Given the description of an element on the screen output the (x, y) to click on. 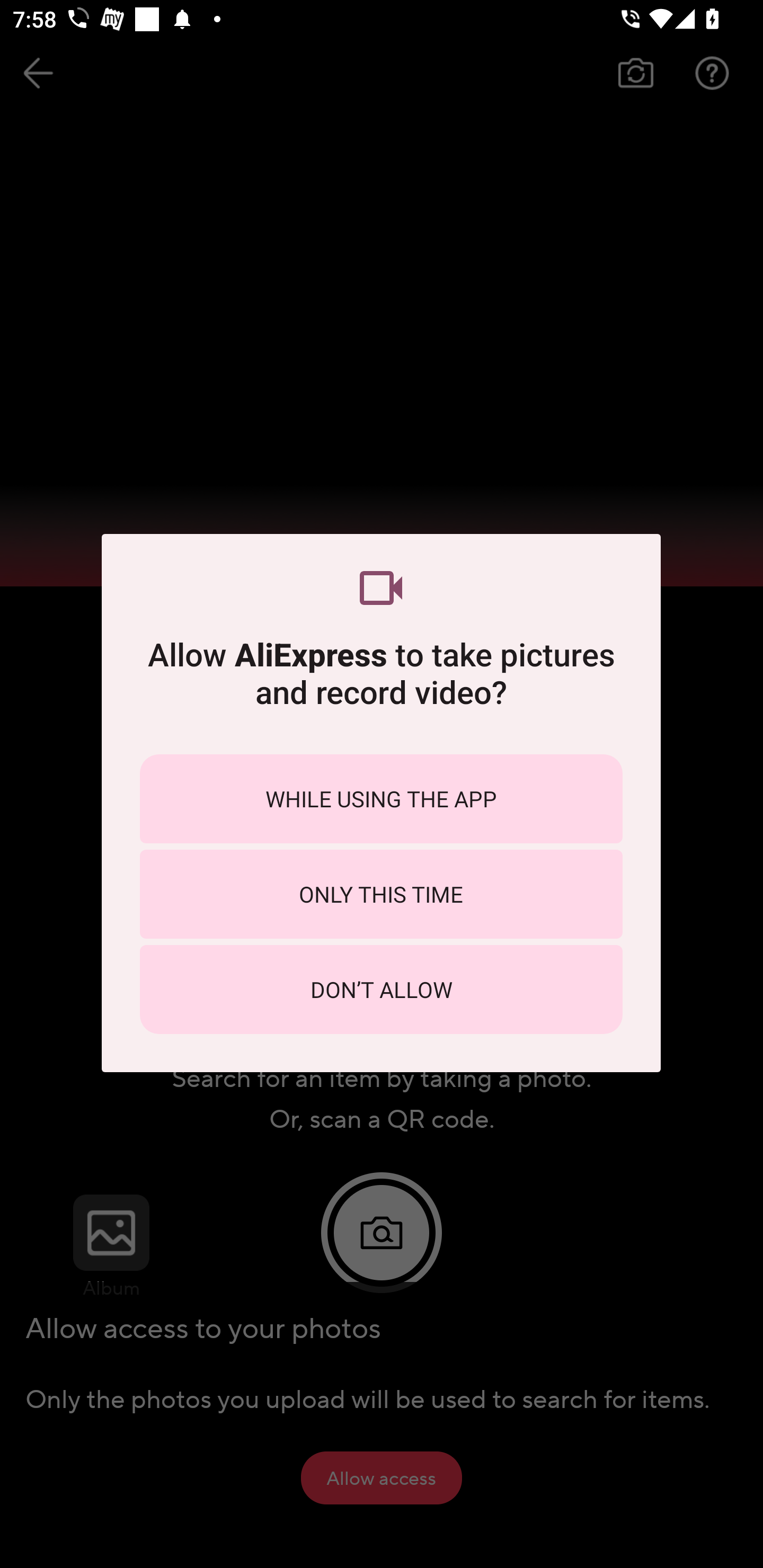
WHILE USING THE APP (380, 798)
ONLY THIS TIME (380, 894)
DON’T ALLOW (380, 989)
